Given the description of an element on the screen output the (x, y) to click on. 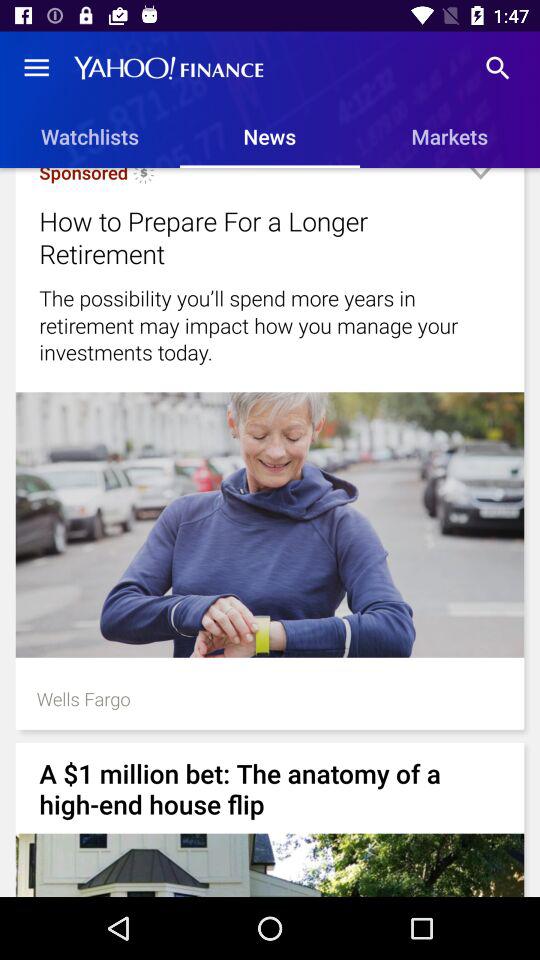
select the how to prepare item (244, 237)
